Given the description of an element on the screen output the (x, y) to click on. 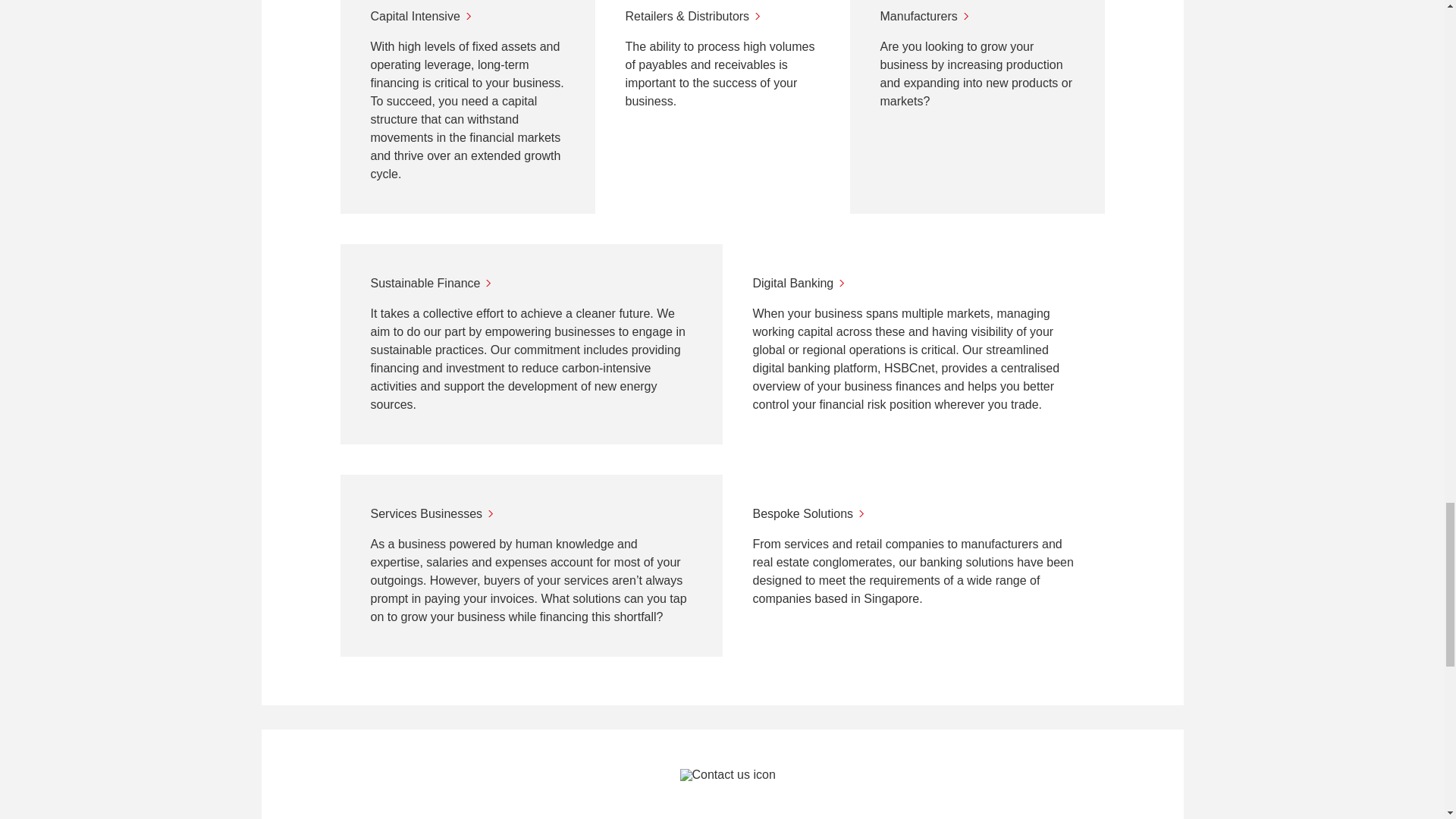
Manufacturers (976, 16)
Capital Intensive (466, 16)
 Contact us icon (864, 794)
Digital Banking (913, 283)
Sustainable Finance (530, 283)
Bespoke Solutions (913, 514)
Services Businesses (530, 514)
